Given the description of an element on the screen output the (x, y) to click on. 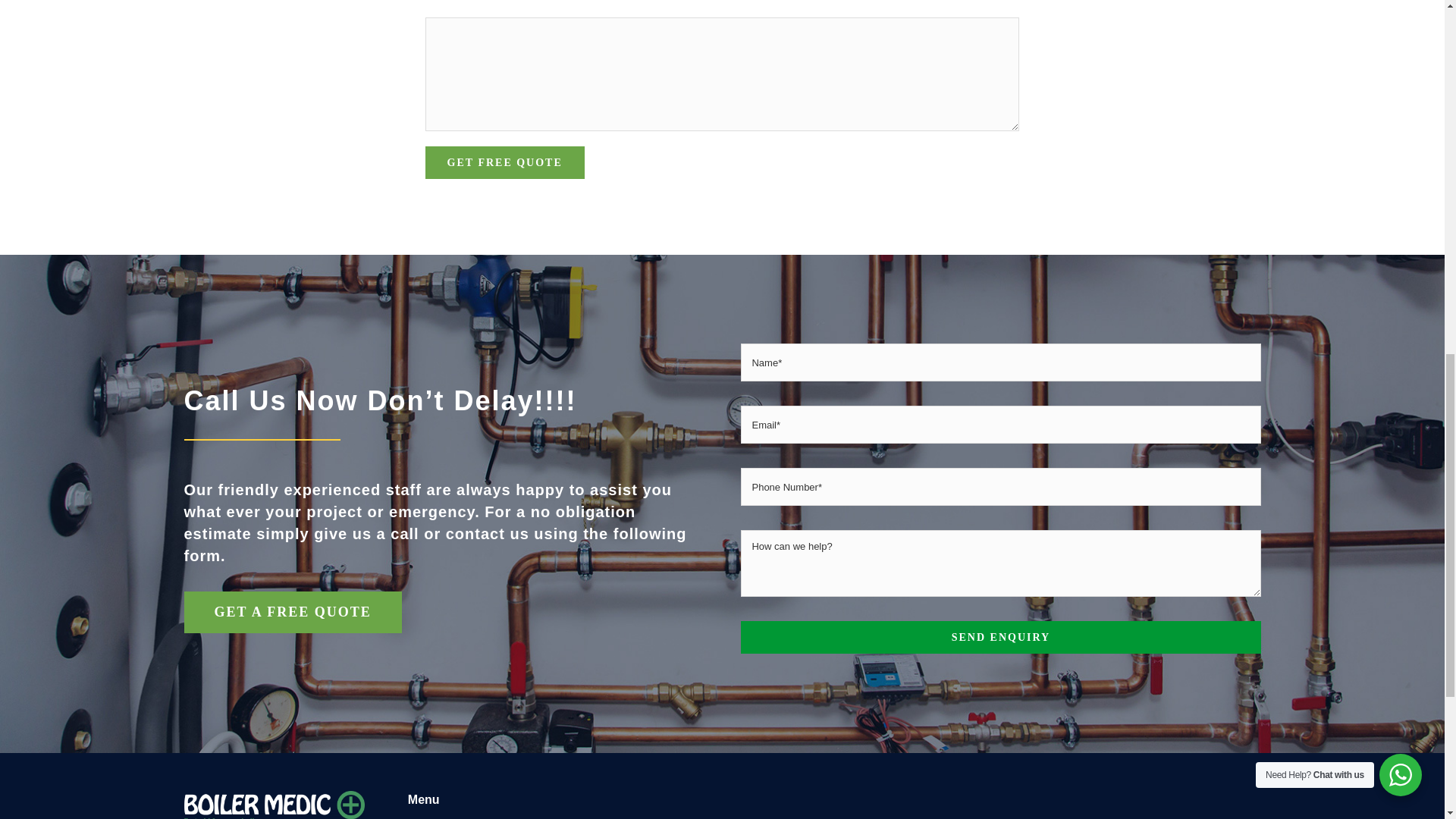
GET A FREE QUOTE (292, 612)
Only numbers and phone characters are accepted. (1000, 486)
GET FREE QUOTE (505, 162)
get a free quote (292, 612)
SEND ENQUIRY (1000, 636)
GET FREE QUOTE (505, 162)
